Given the description of an element on the screen output the (x, y) to click on. 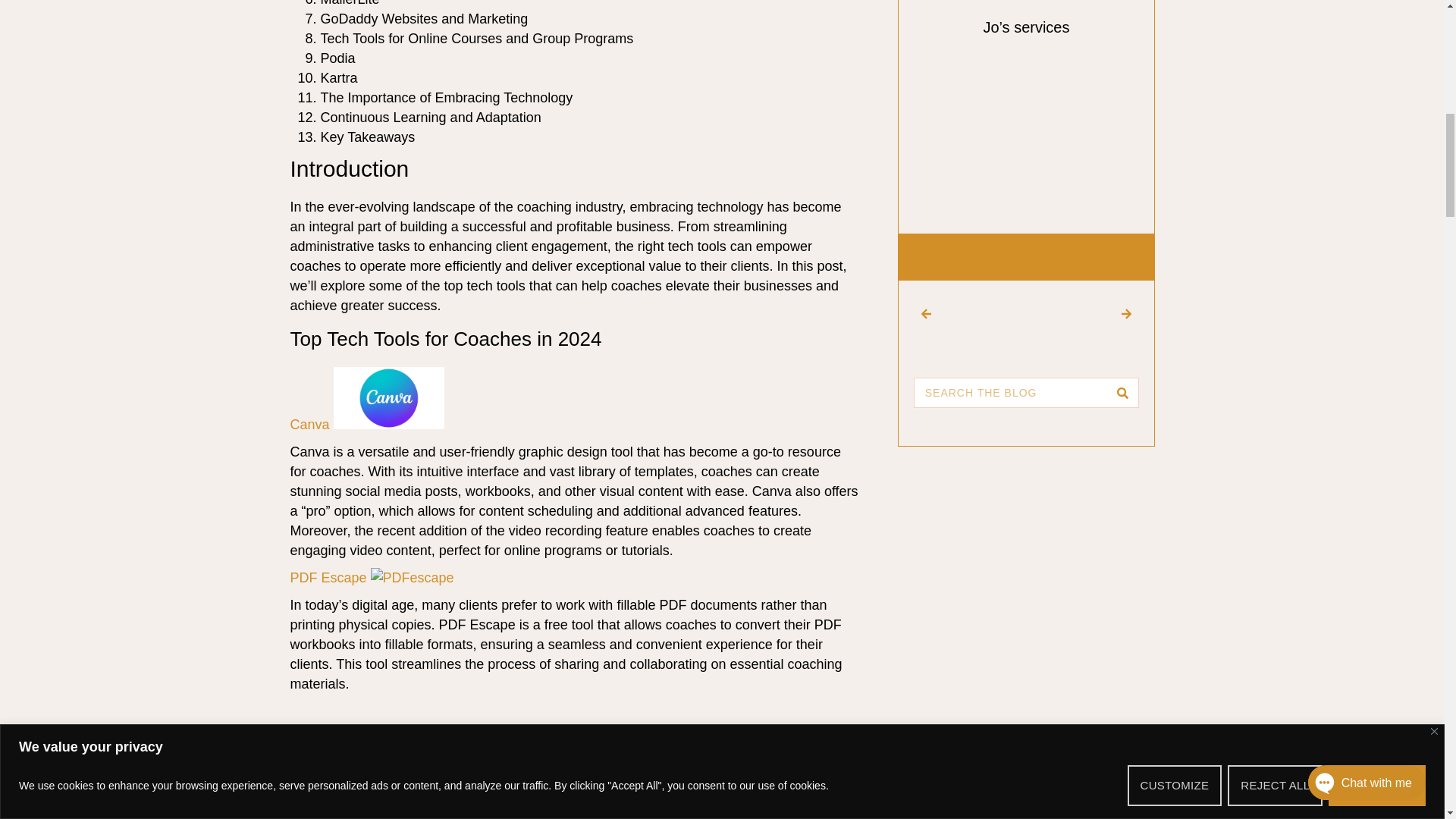
PDF Escape (370, 577)
Canva (366, 424)
